Given the description of an element on the screen output the (x, y) to click on. 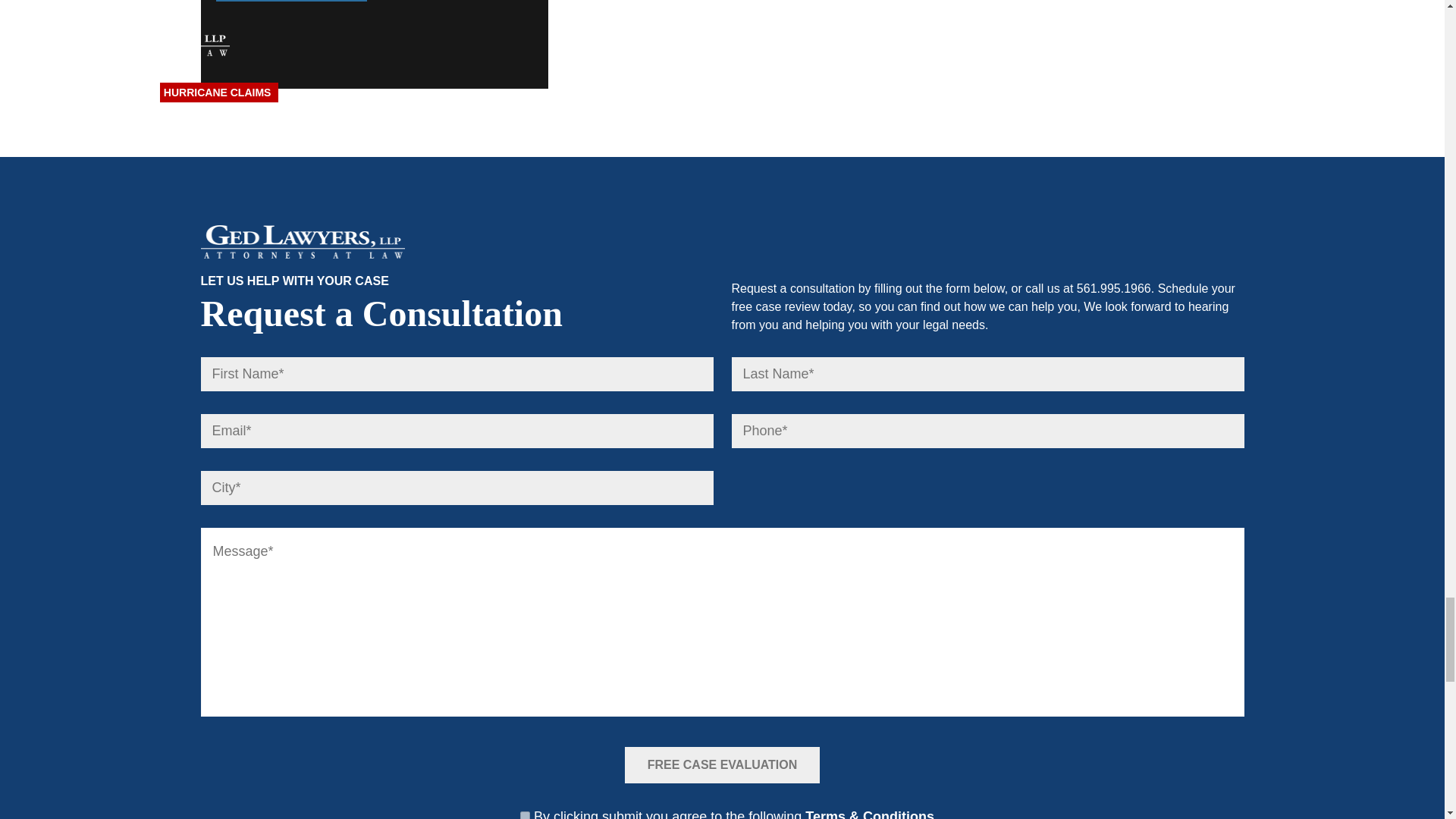
1 (524, 815)
Free Case Evaluation (722, 764)
